Given the description of an element on the screen output the (x, y) to click on. 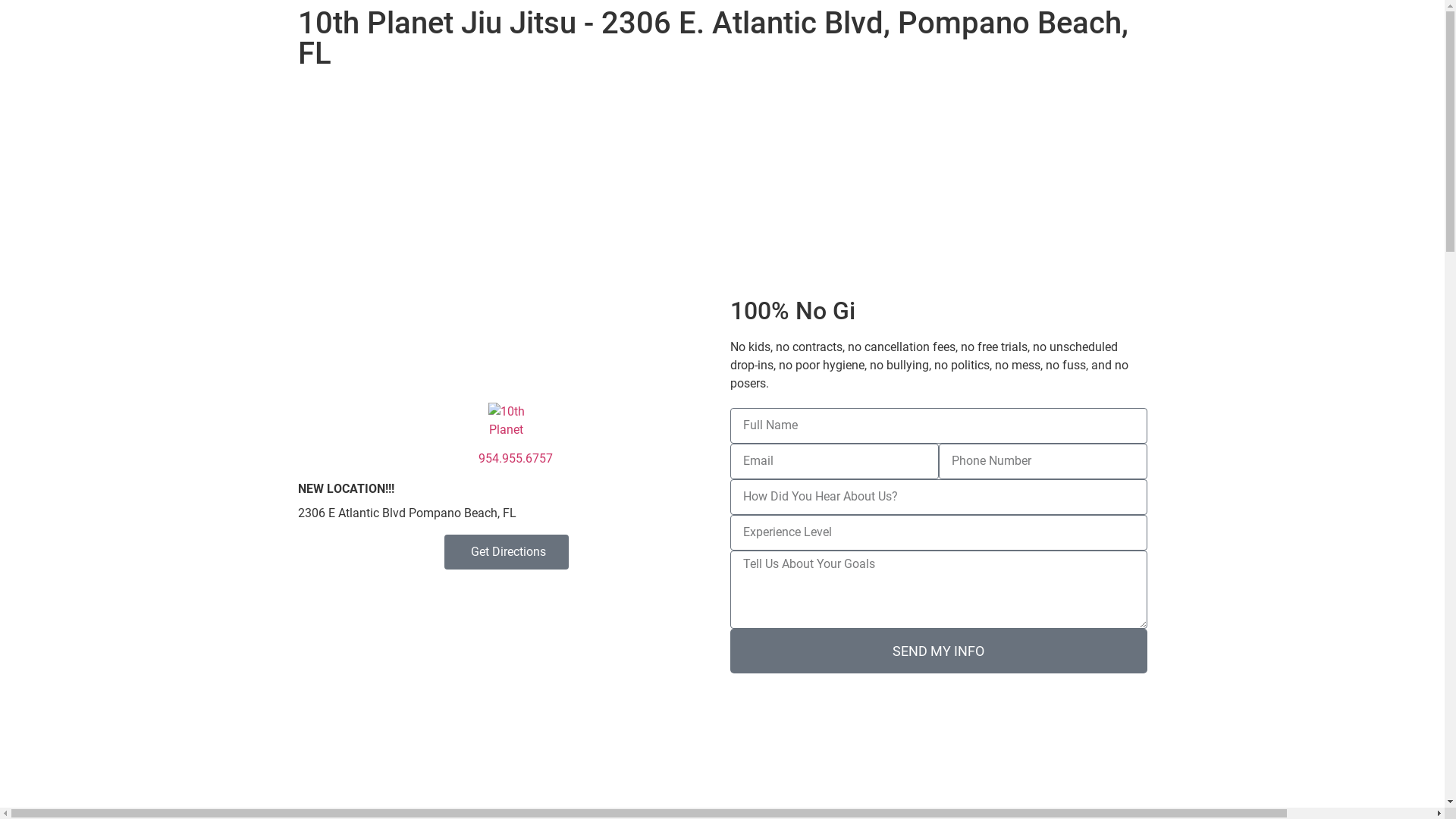
Get Directions Element type: text (506, 551)
SEND MY INFO Element type: text (937, 650)
954.955.6757 Element type: text (505, 458)
